Given the description of an element on the screen output the (x, y) to click on. 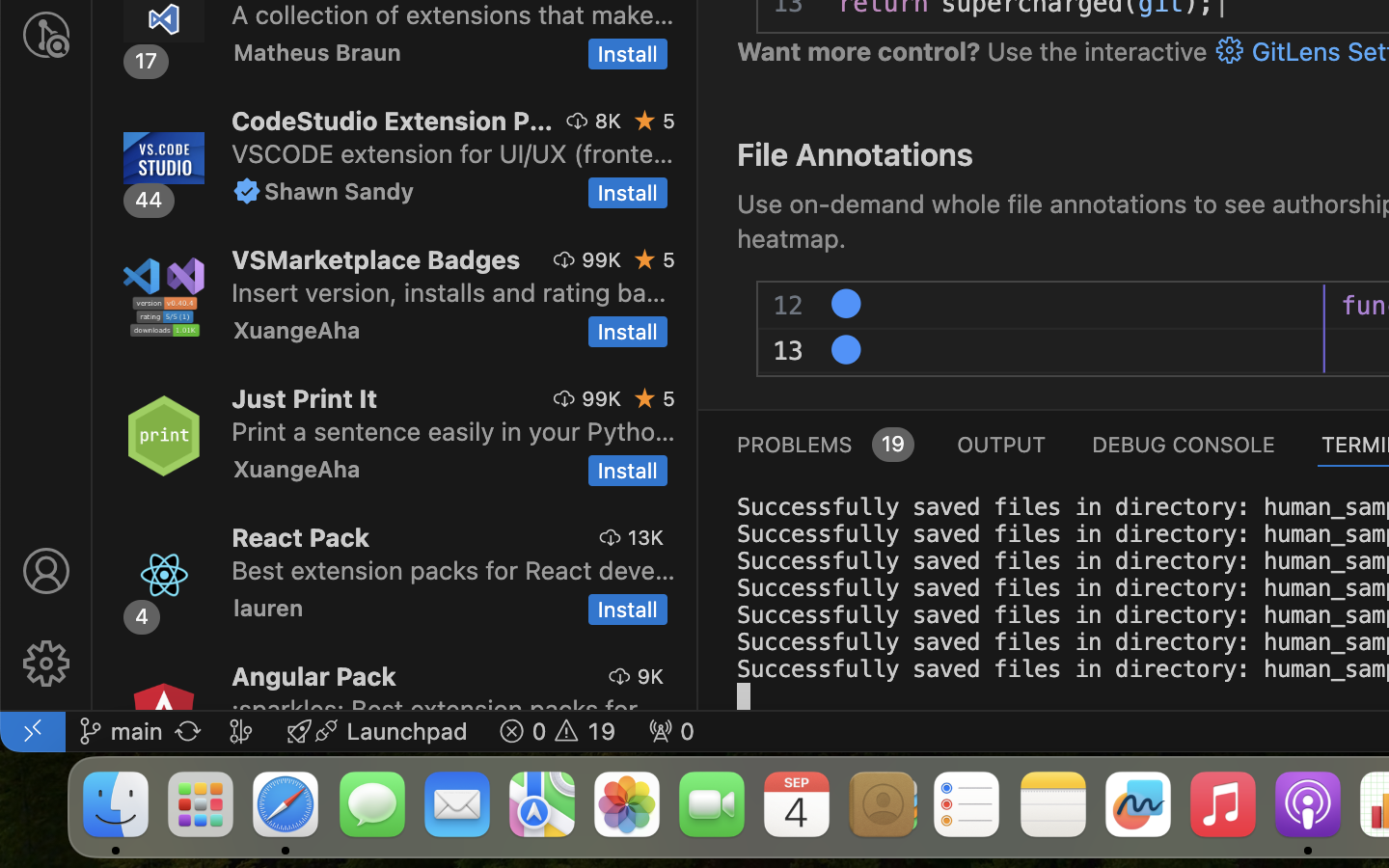
13K Element type: AXStaticText (645, 536)
0 PROBLEMS 19 Element type: AXRadioButton (824, 443)
19  0  Element type: AXButton (557, 730)
 Element type: AXStaticText (46, 663)
Launchpad   Element type: AXButton (376, 730)
